Given the description of an element on the screen output the (x, y) to click on. 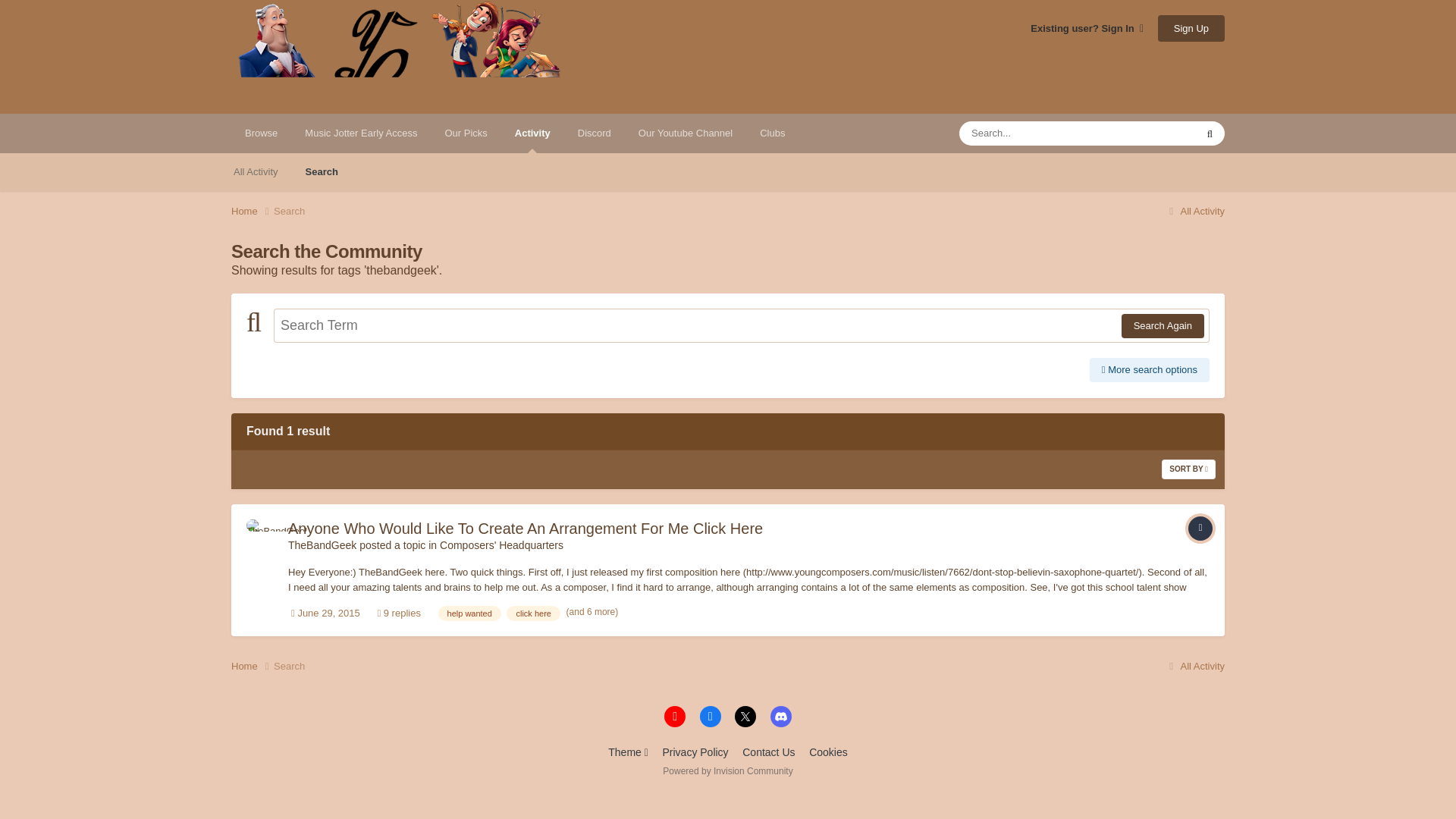
Clubs (771, 133)
All Activity (1194, 211)
Search (322, 171)
All Activity (255, 171)
Existing user? Sign In   (1086, 28)
Browse (261, 133)
Go to TheBandGeek's profile (262, 535)
Home (252, 666)
Our Picks (465, 133)
Home (252, 211)
Discord (594, 133)
Find other content tagged with 'click here' (532, 613)
Invision Community (727, 770)
Sign Up (1190, 28)
Music Jotter Early Access (360, 133)
